Given the description of an element on the screen output the (x, y) to click on. 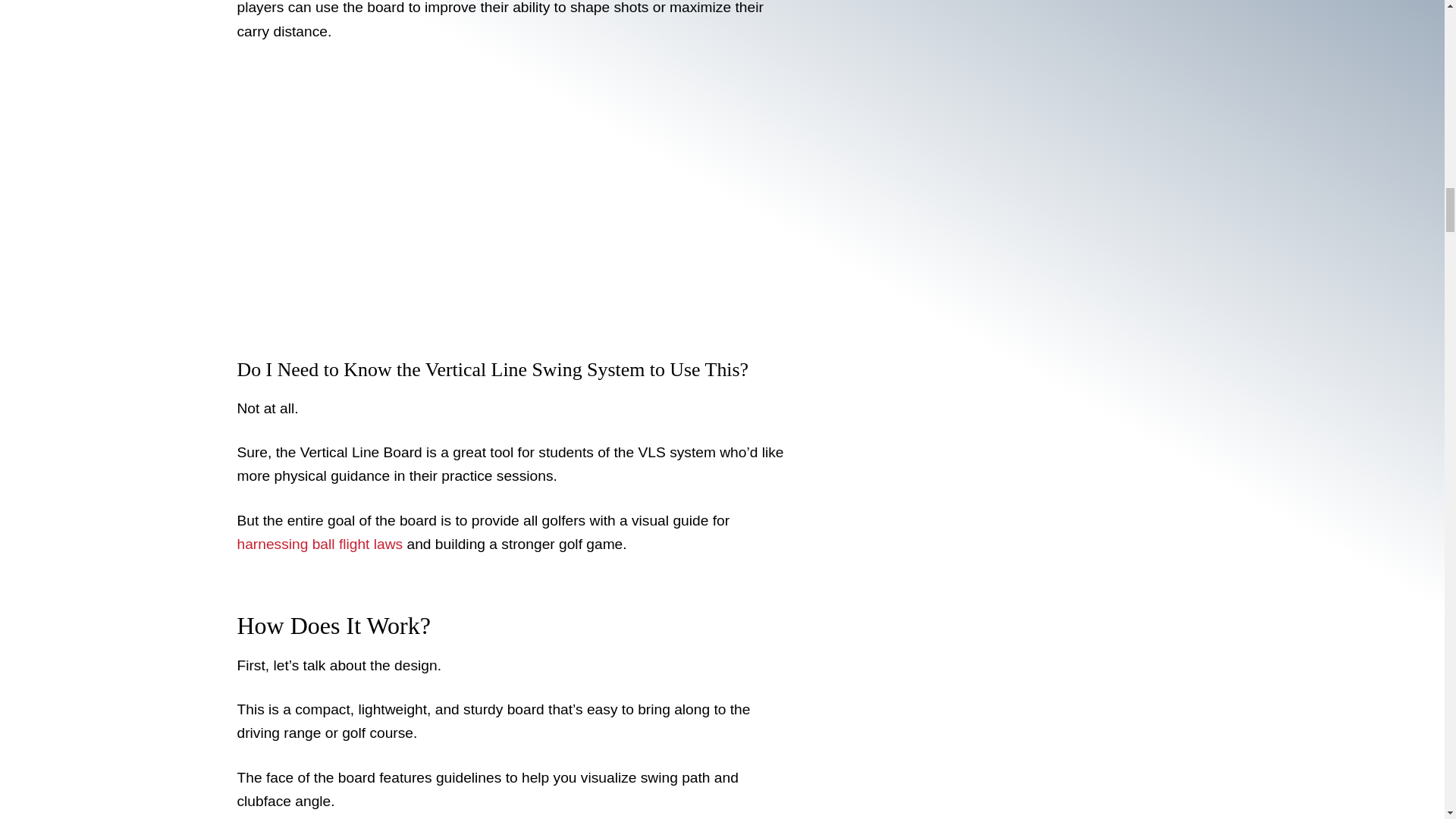
YouTube video player (448, 182)
